Given the description of an element on the screen output the (x, y) to click on. 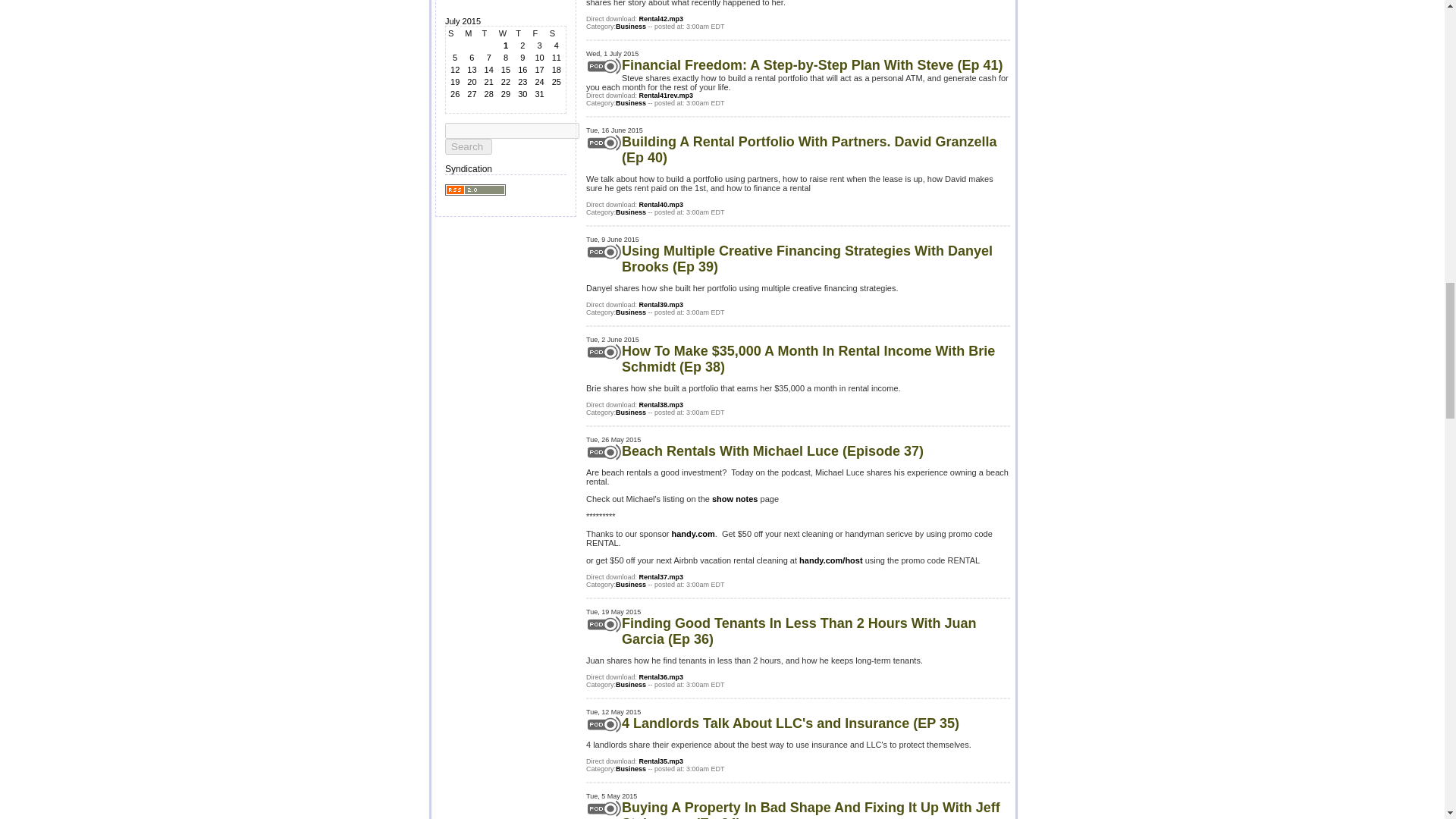
Monday (471, 32)
Thursday (522, 32)
Sunday (454, 32)
Wednesday (505, 32)
Friday (539, 32)
Tuesday (488, 32)
Search  (468, 146)
Saturday (556, 32)
